Given the description of an element on the screen output the (x, y) to click on. 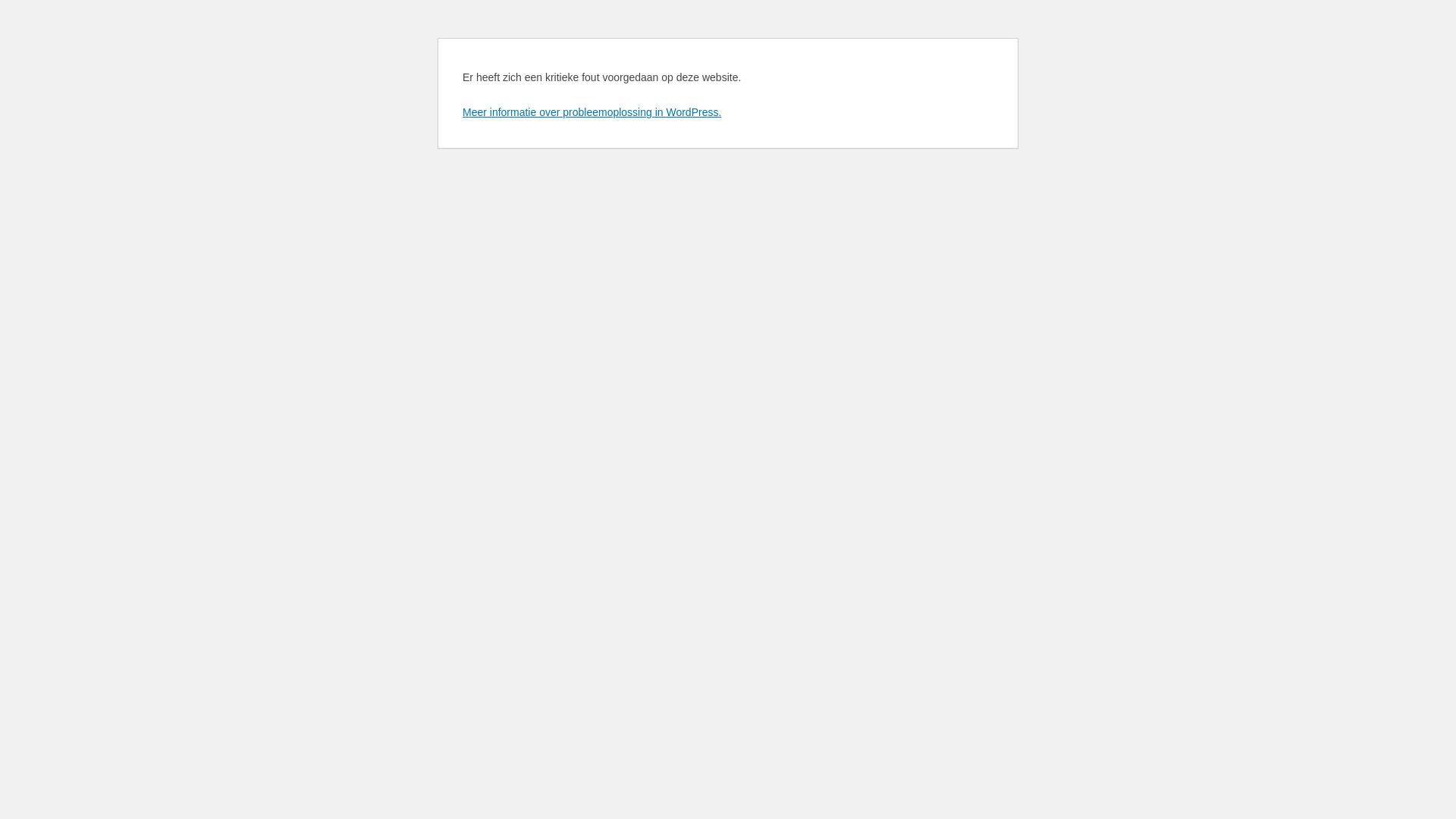
Meer informatie over probleemoplossing in WordPress. Element type: text (591, 112)
